Given the description of an element on the screen output the (x, y) to click on. 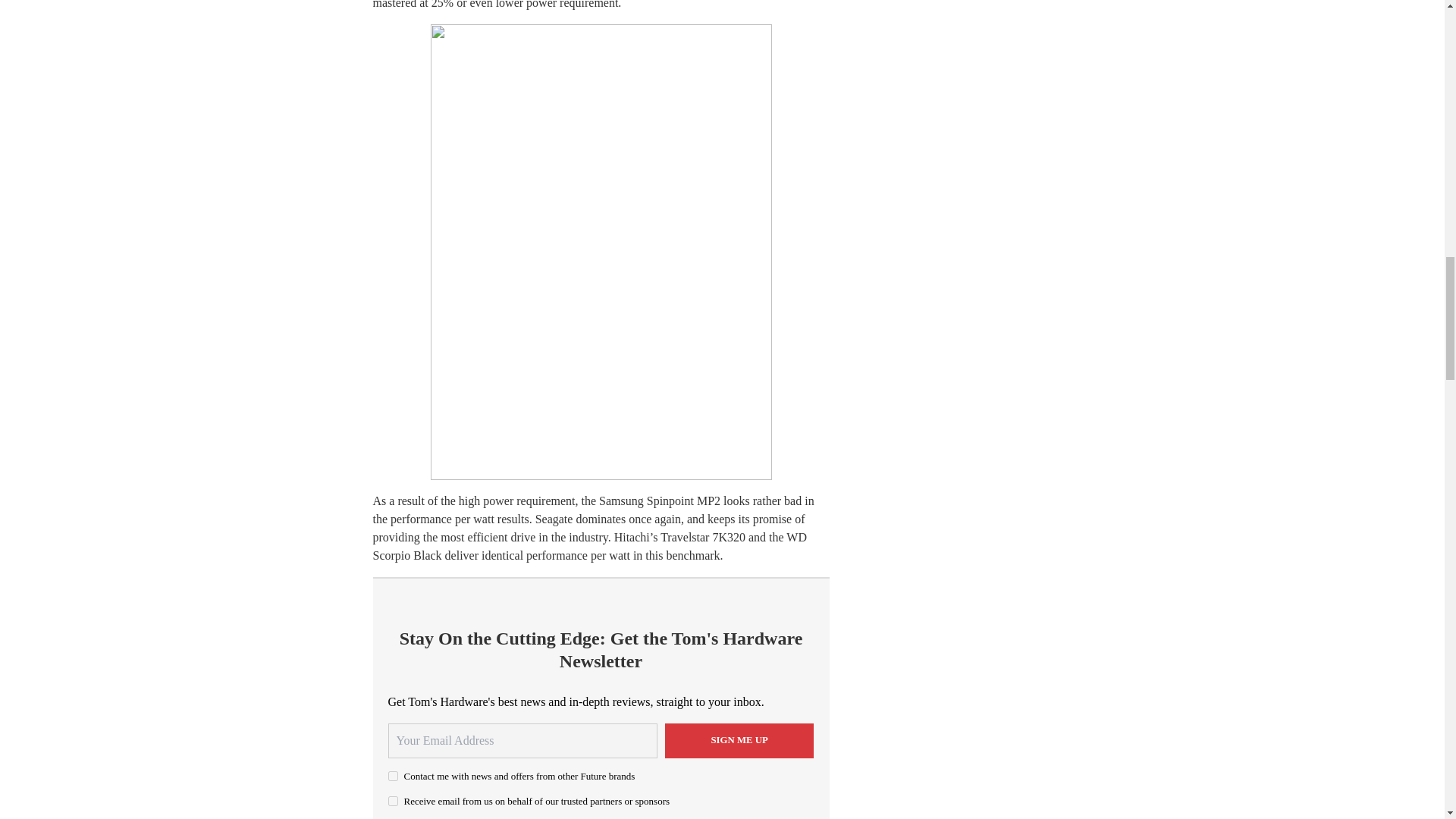
Sign me up (739, 740)
on (392, 776)
on (392, 800)
